Given the description of an element on the screen output the (x, y) to click on. 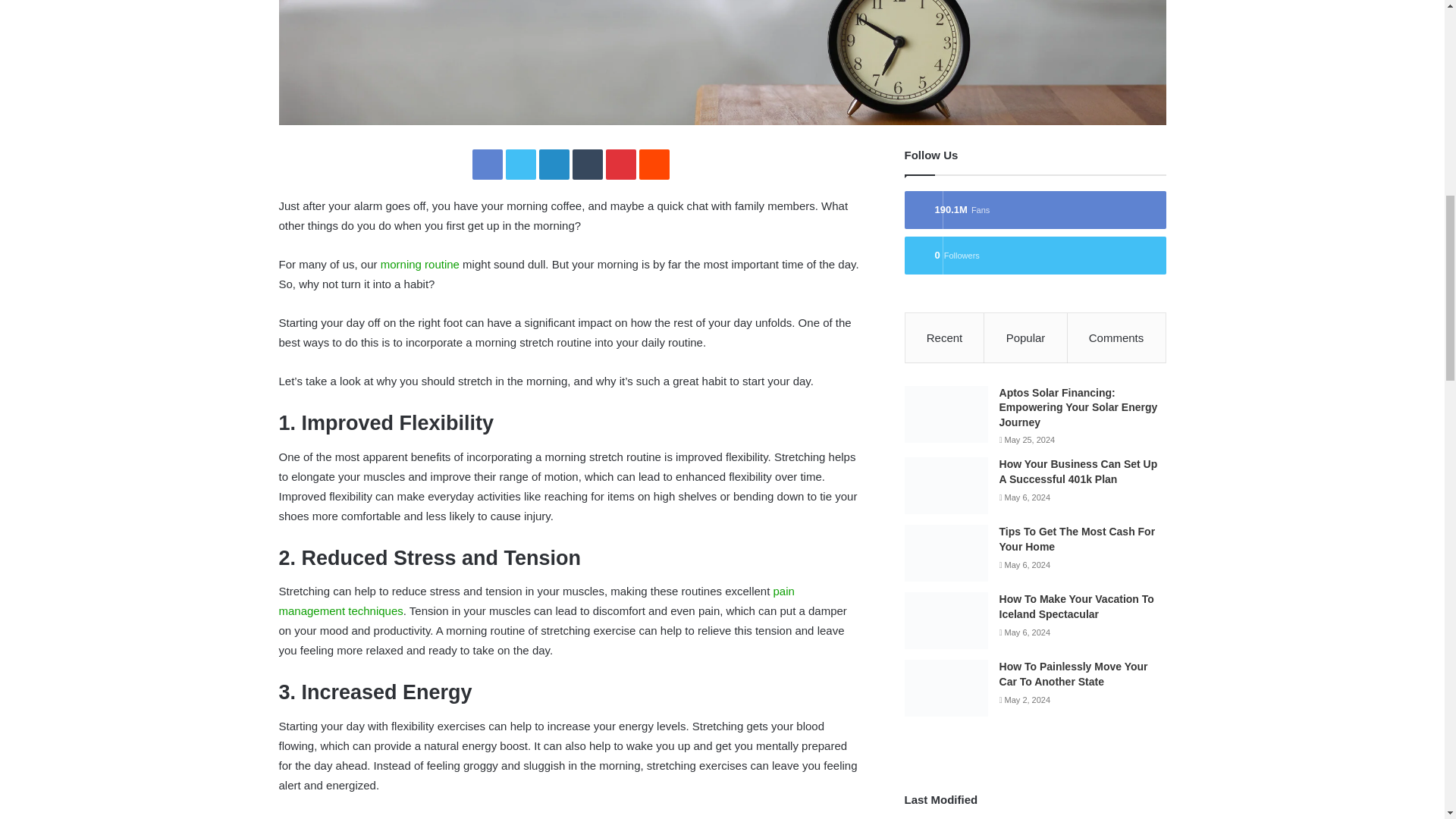
Twitter (520, 164)
pain management techniques (536, 600)
Tumblr (587, 164)
morning routine (420, 264)
LinkedIn (553, 164)
Facebook (486, 164)
Reddit (653, 164)
Pinterest (619, 164)
